Given the description of an element on the screen output the (x, y) to click on. 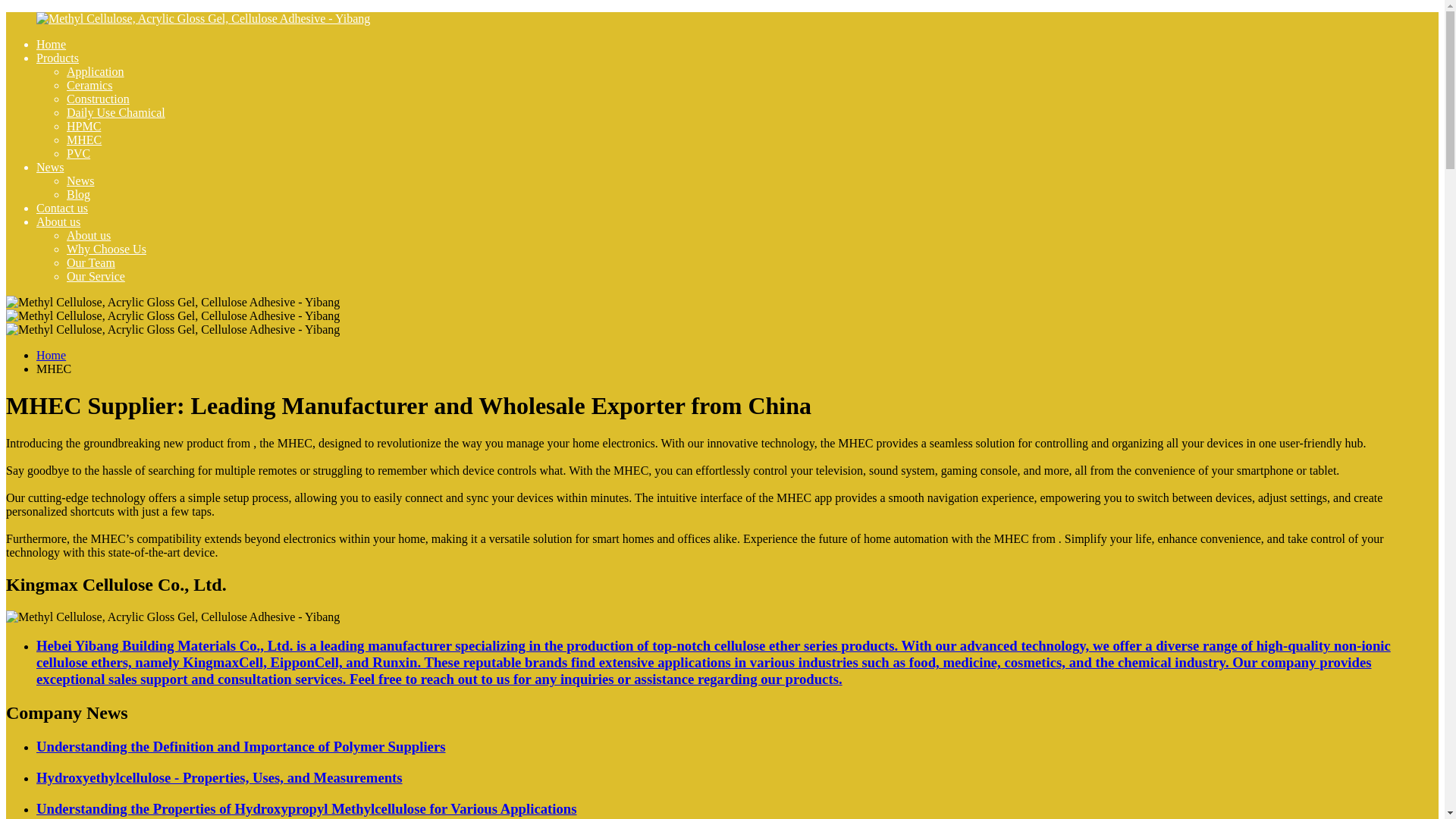
Ceramics (89, 84)
Products (57, 57)
PVC (78, 153)
Our Service (95, 276)
Our Team (90, 262)
News (80, 180)
News (50, 166)
Why Choose Us (106, 248)
Home (50, 43)
About us (58, 221)
About us (88, 235)
Daily Use Chamical (115, 112)
Application (94, 71)
MHEC (83, 139)
Construction (97, 98)
